Given the description of an element on the screen output the (x, y) to click on. 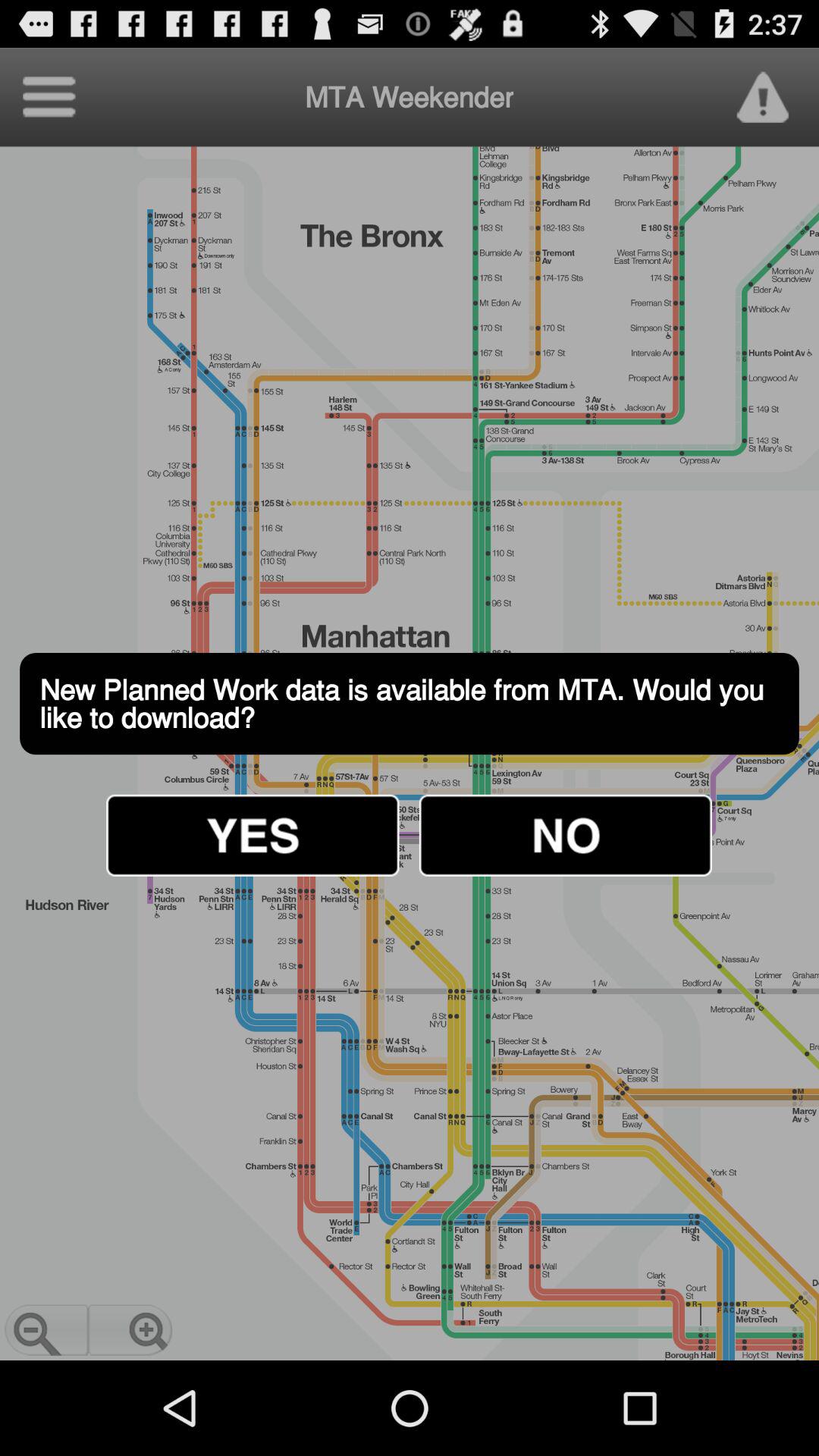
tap the button on the left (252, 835)
